Given the description of an element on the screen output the (x, y) to click on. 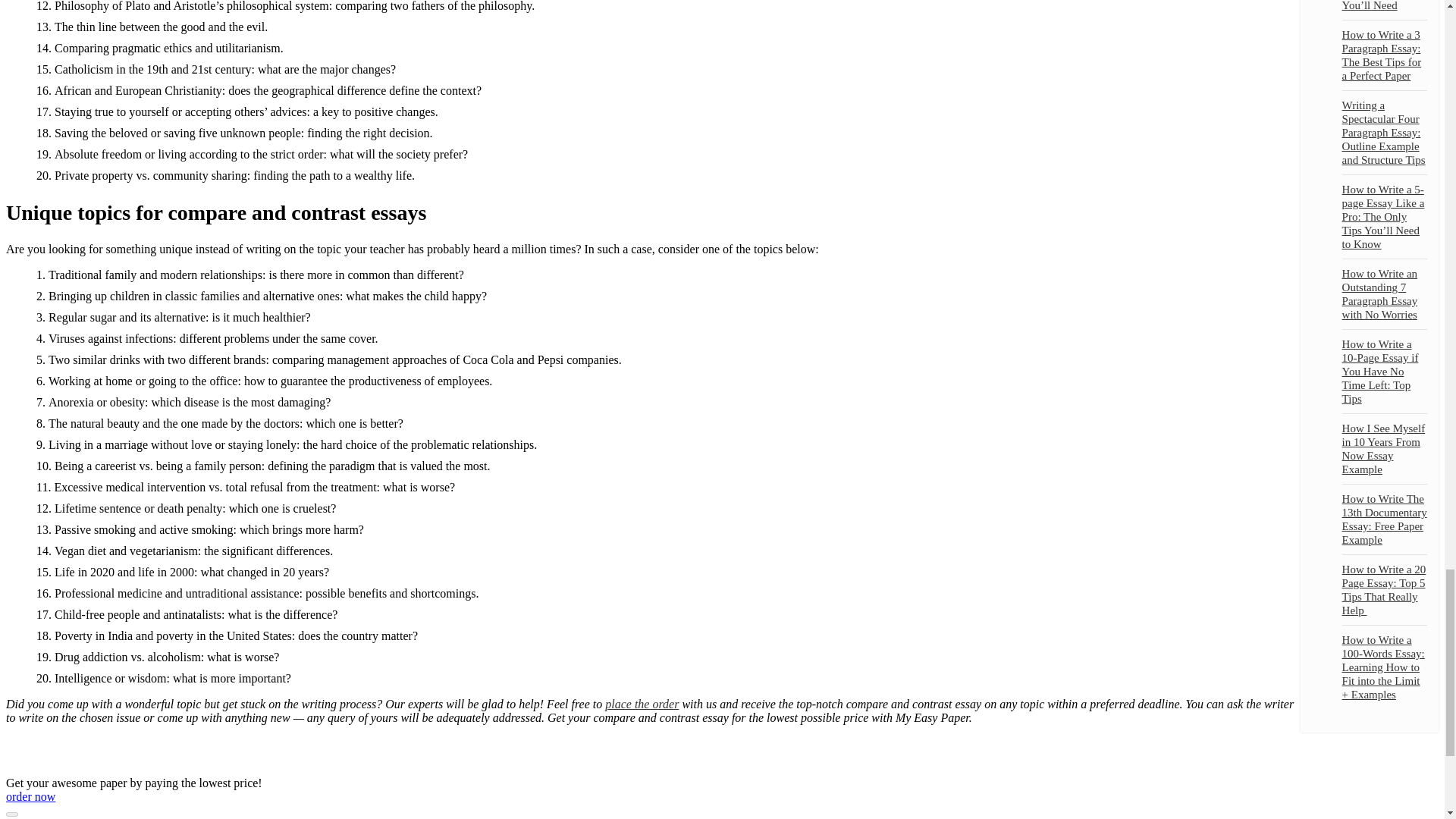
place the order (641, 703)
order now (30, 796)
